Given the description of an element on the screen output the (x, y) to click on. 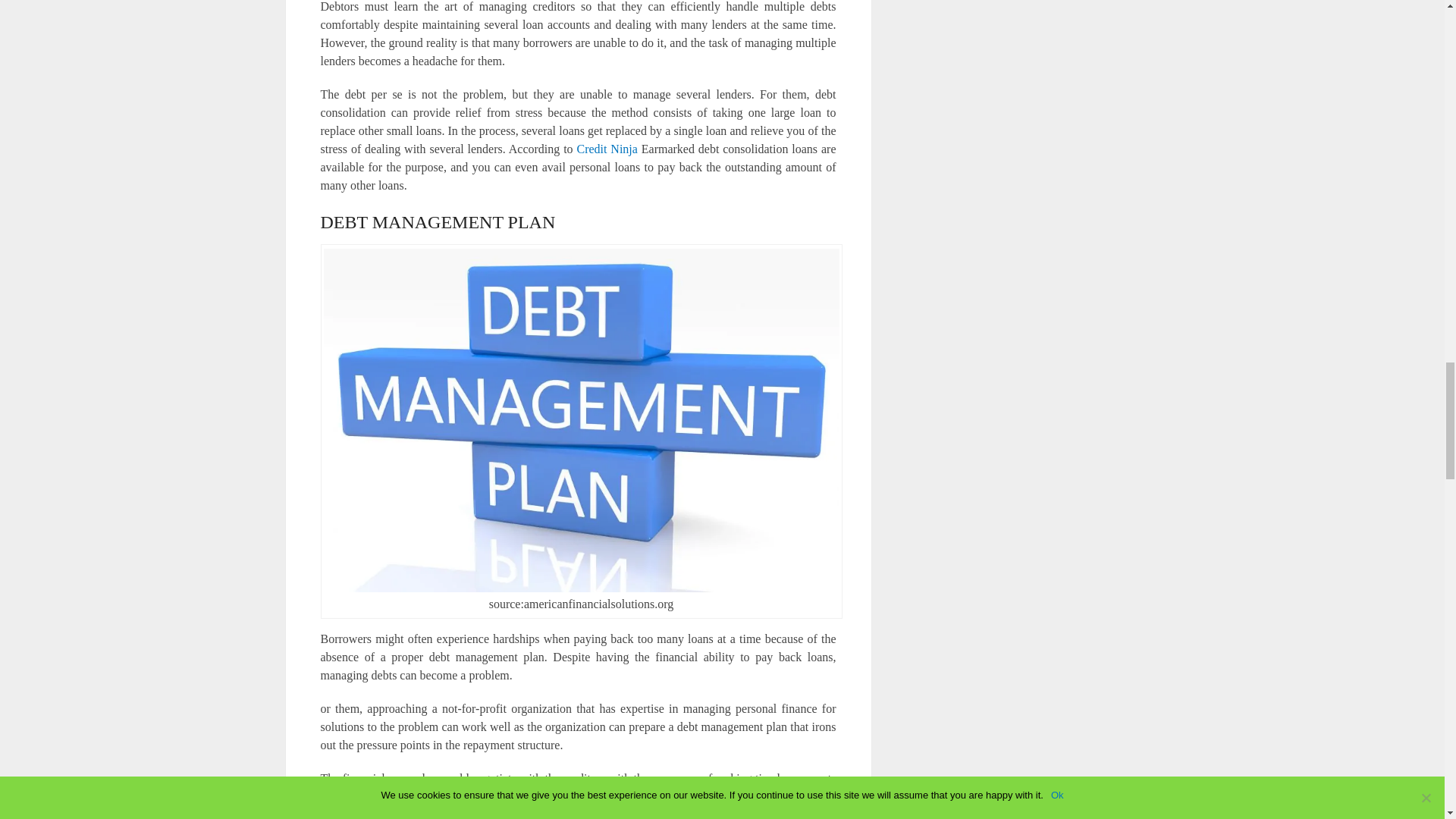
Credit Ninja (606, 148)
